Given the description of an element on the screen output the (x, y) to click on. 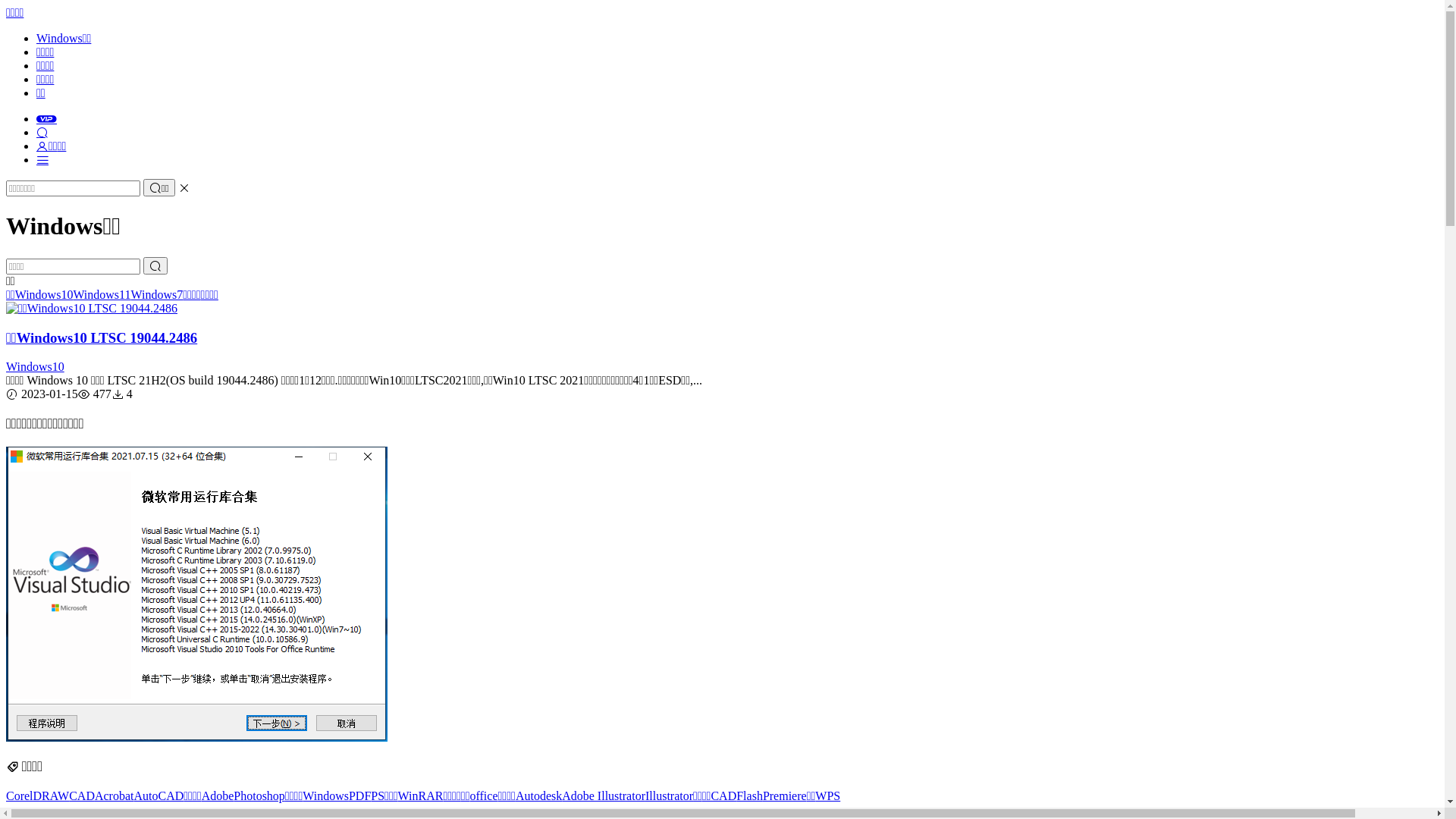
AutoCAD Element type: text (158, 795)
Windows11 Element type: text (101, 294)
Acrobat Element type: text (114, 795)
Premiere Element type: text (784, 795)
Windows10 Element type: text (35, 366)
Photoshop Element type: text (259, 795)
Windows7 Element type: text (156, 294)
office Element type: text (483, 795)
Windows10 Element type: text (44, 294)
PDF Element type: text (359, 795)
PS Element type: text (377, 795)
Adobe Illustrator Element type: text (603, 795)
Windows Element type: text (325, 795)
Adobe Element type: text (217, 795)
Autodesk Element type: text (538, 795)
Illustrator Element type: text (669, 795)
CorelDRAW Element type: text (37, 795)
Flash Element type: text (749, 795)
WinRAR Element type: text (420, 795)
WPS Element type: text (827, 795)
CAD Element type: text (81, 795)
